Given the description of an element on the screen output the (x, y) to click on. 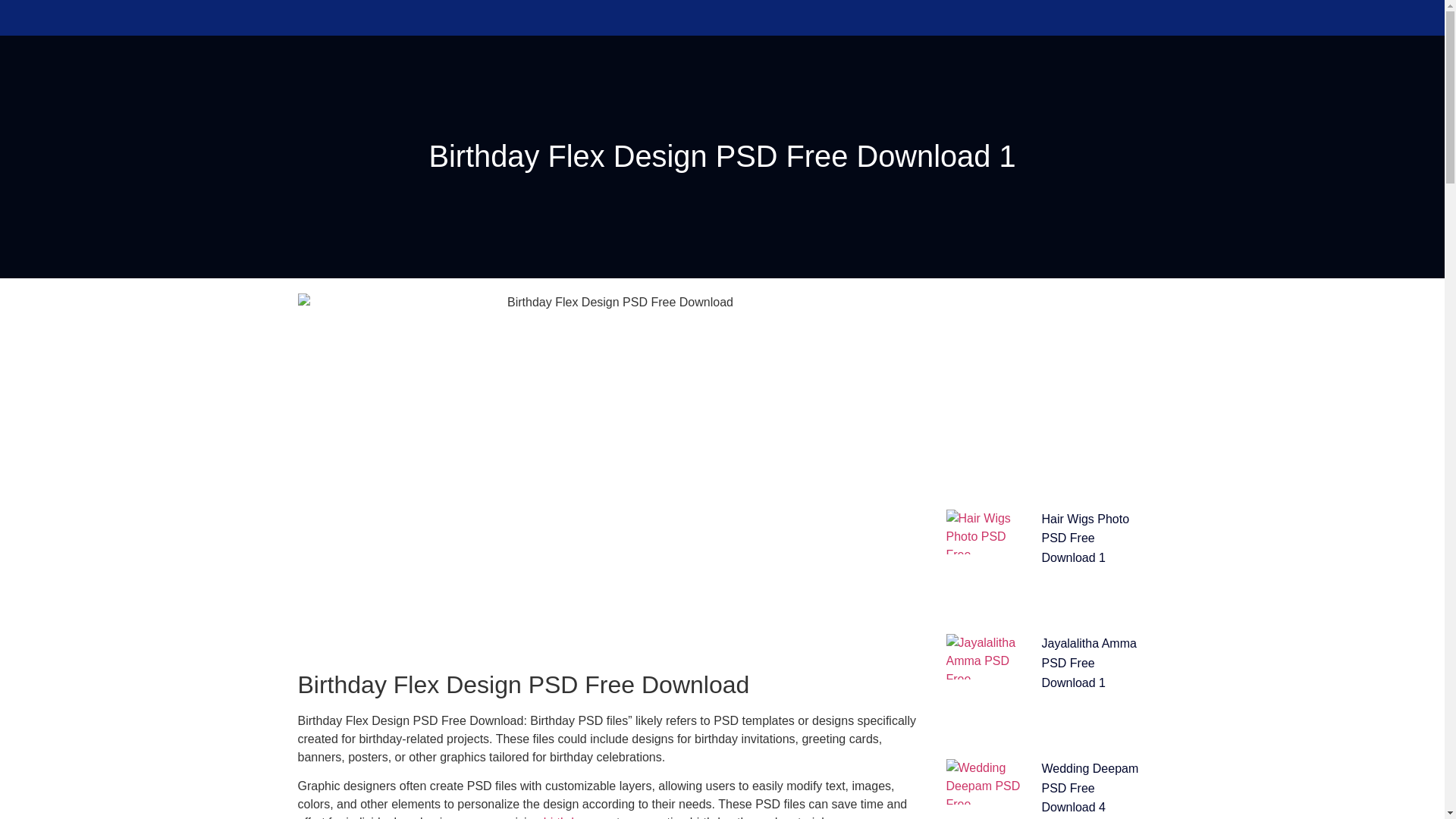
birthday (564, 817)
Hair Wigs Photo PSD Free Download 1 (1085, 538)
Jayalalitha Amma PSD Free Download 1 (1089, 662)
Wedding Deepam PSD Free Download 4 (1090, 788)
